Given the description of an element on the screen output the (x, y) to click on. 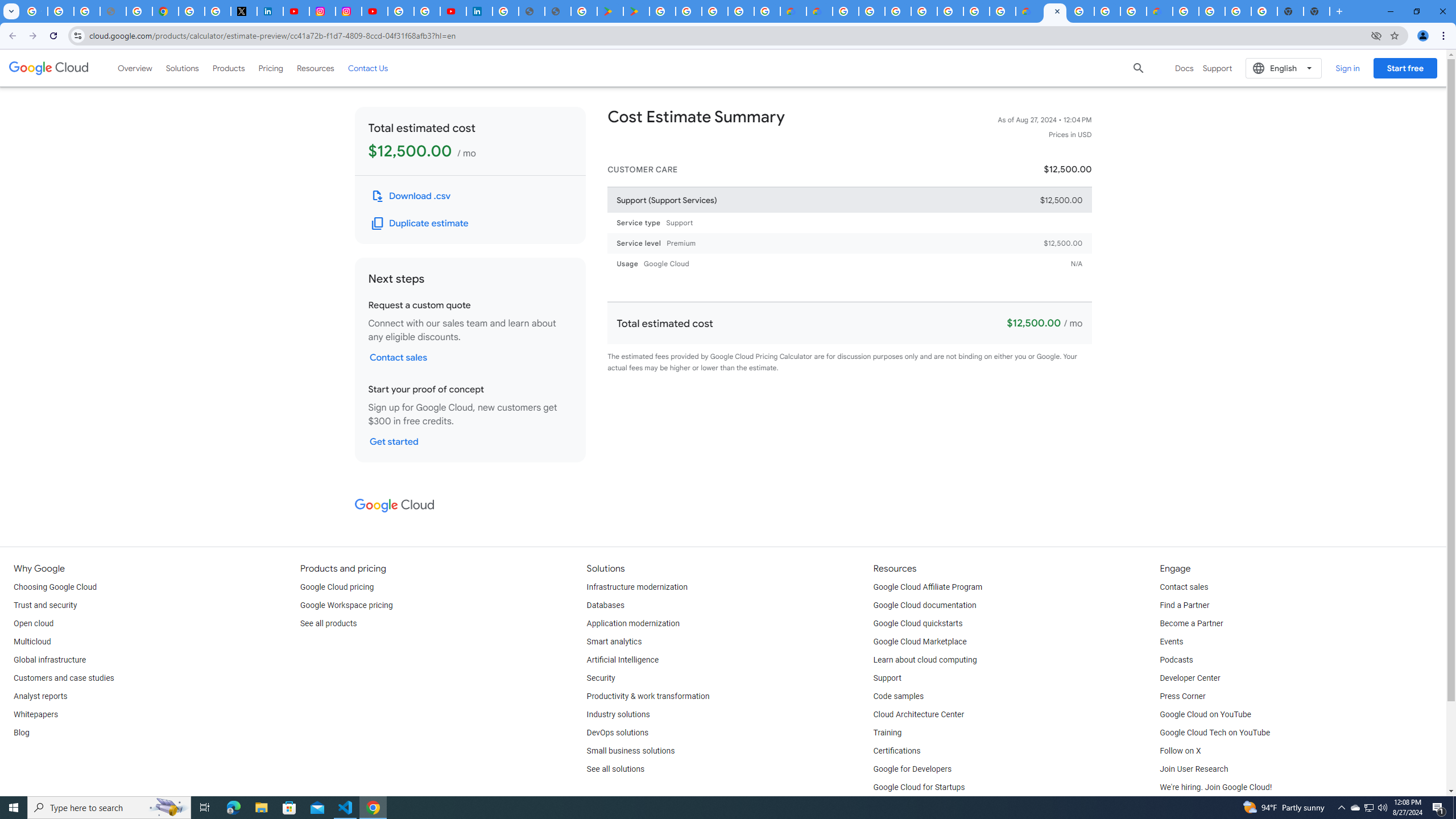
Google Cloud Affiliate Program (927, 587)
User Details (558, 11)
Google Cloud Platform (845, 11)
Customer Care | Google Cloud (1028, 11)
Google Cloud for Startups (919, 787)
Artificial Intelligence (622, 660)
Google for Developers (912, 769)
Certifications (896, 751)
